Given the description of an element on the screen output the (x, y) to click on. 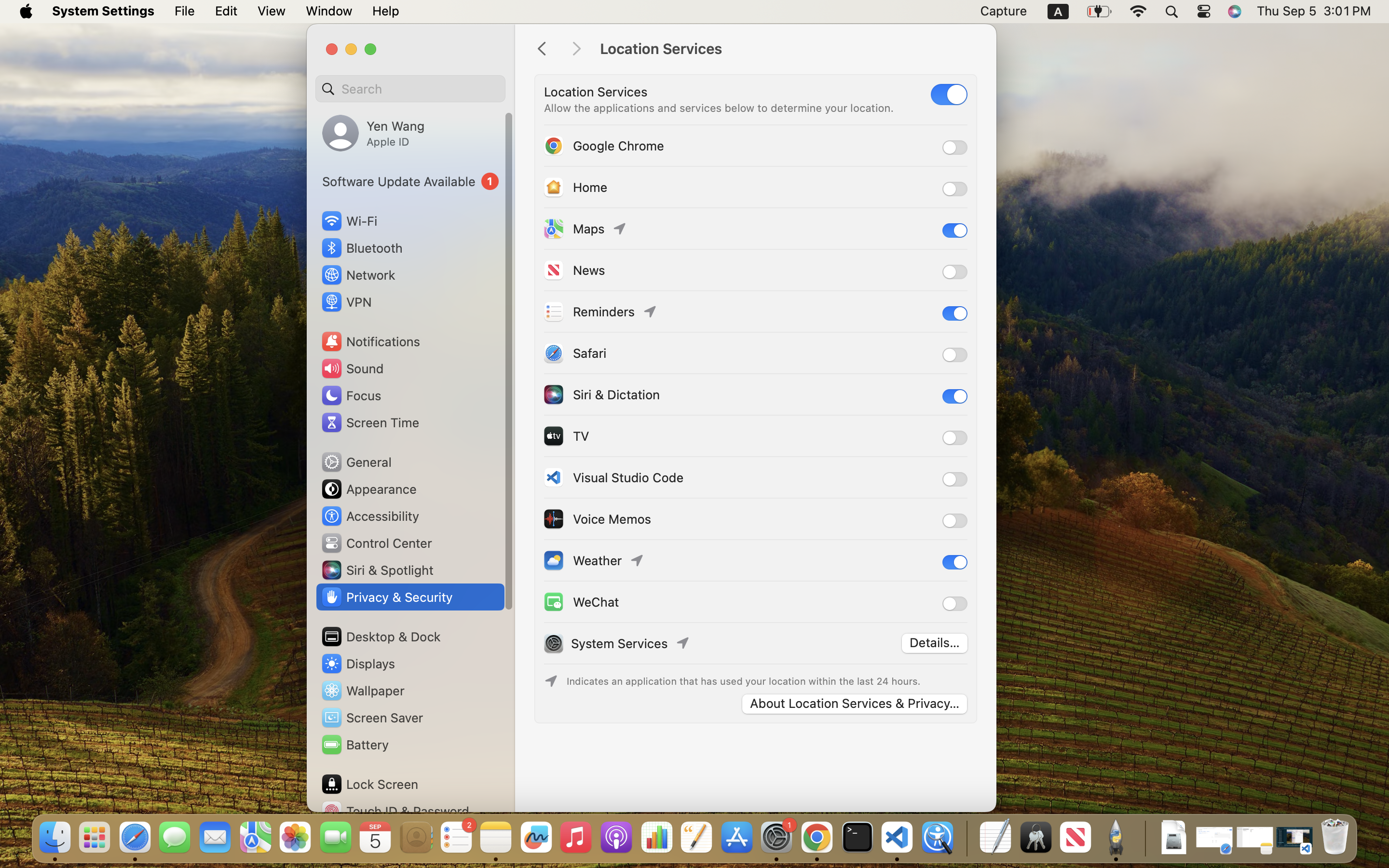
Sound Element type: AXStaticText (351, 367)
Yen Wang, Apple ID Element type: AXStaticText (373, 132)
